Given the description of an element on the screen output the (x, y) to click on. 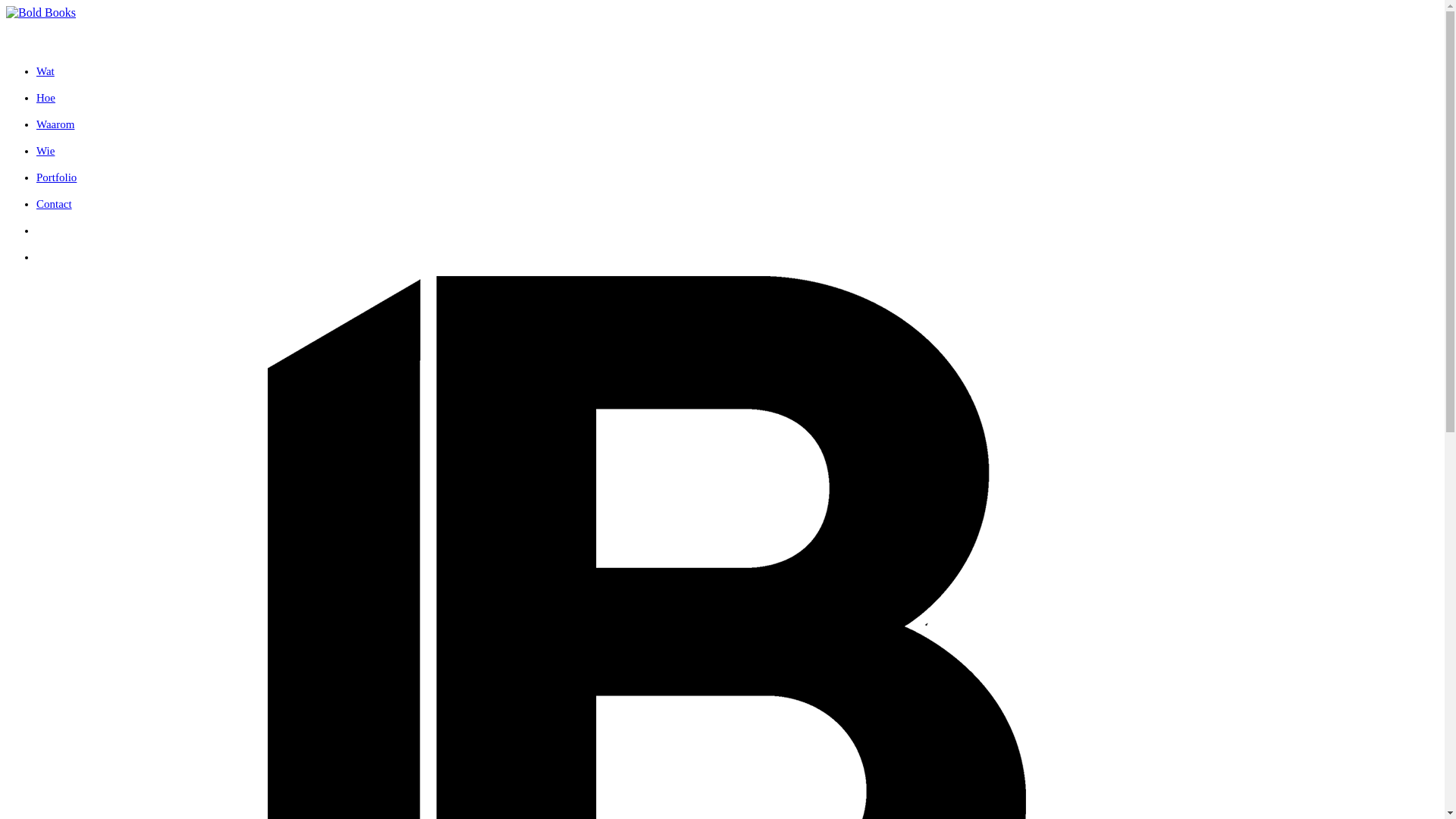
Contact Element type: text (54, 203)
Wat Element type: text (45, 71)
Waarom Element type: text (55, 124)
Hoe Element type: text (45, 97)
Wie Element type: text (45, 150)
Portfolio Element type: text (56, 177)
